Given the description of an element on the screen output the (x, y) to click on. 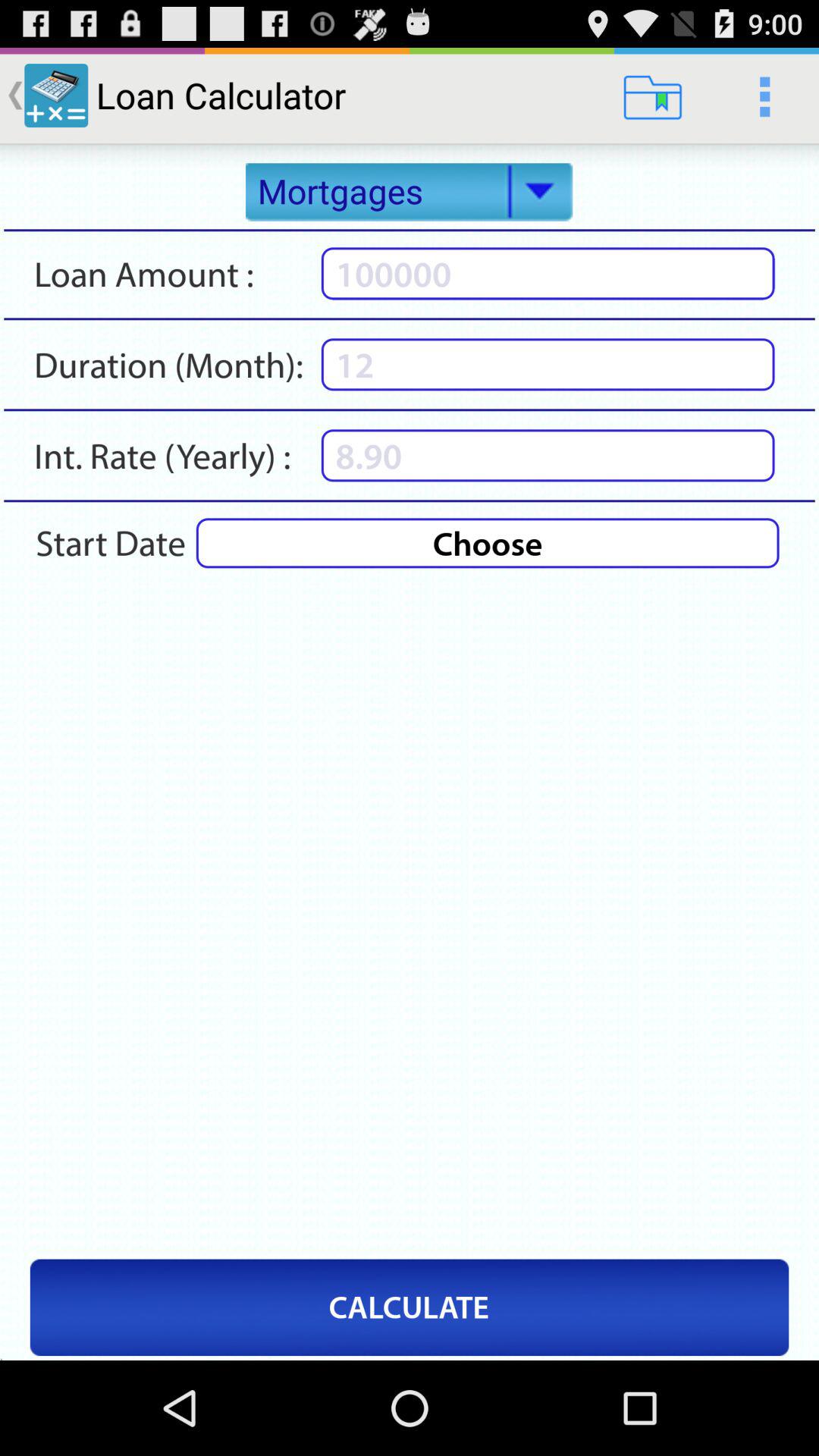
enter month duration (547, 364)
